Given the description of an element on the screen output the (x, y) to click on. 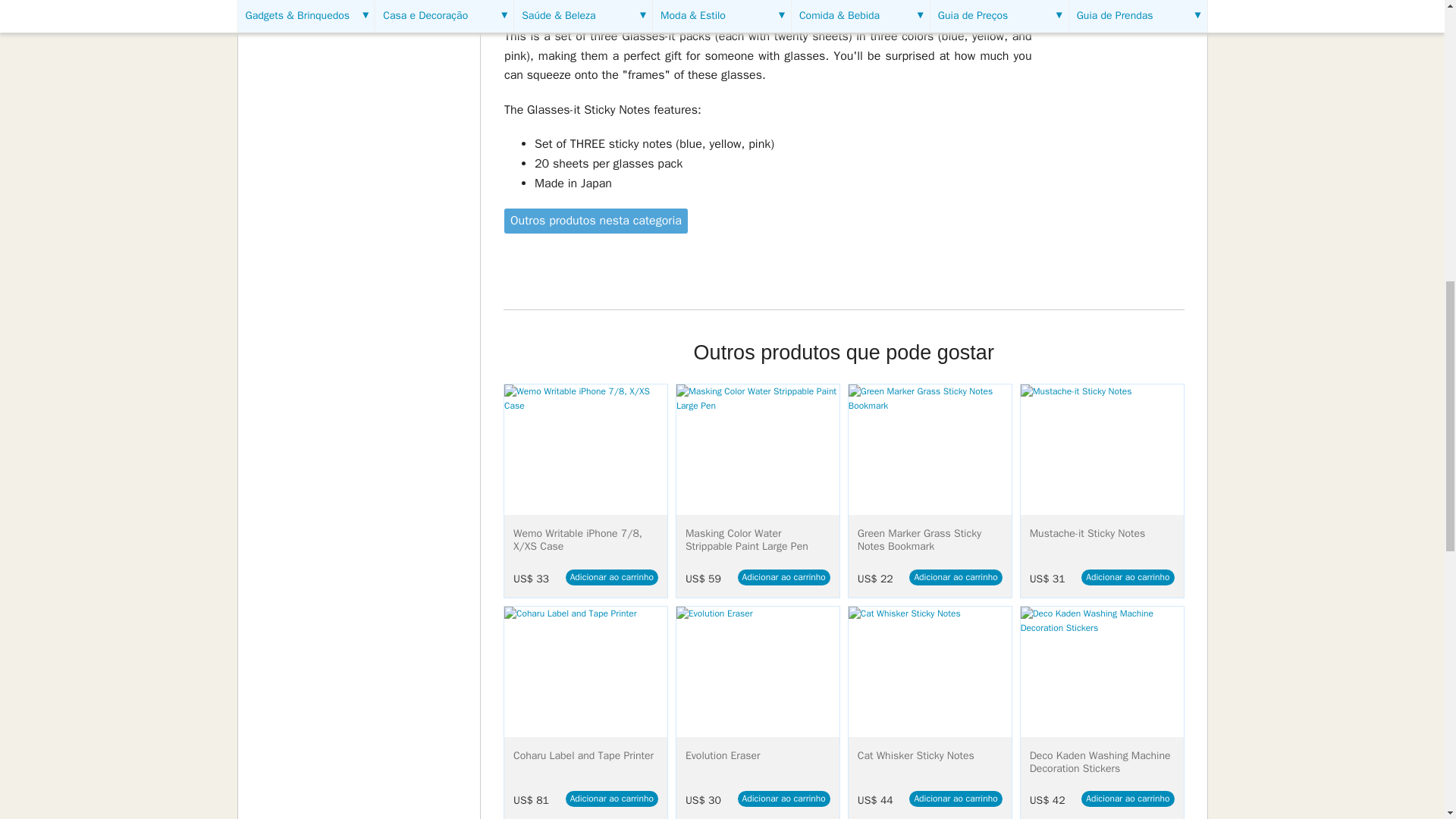
 Deco Kaden Washing Machine Decoration Stickers  (1101, 671)
 Coharu Label and Tape Printer  (584, 671)
 Green Marker Grass Sticky Notes Bookmark  (929, 449)
 Cat Whisker Sticky Notes  (929, 671)
 Masking Color Water Strippable Paint Large Pen  (758, 449)
 Evolution Eraser  (758, 671)
 Mustache-it Sticky Notes  (1101, 449)
